Given the description of an element on the screen output the (x, y) to click on. 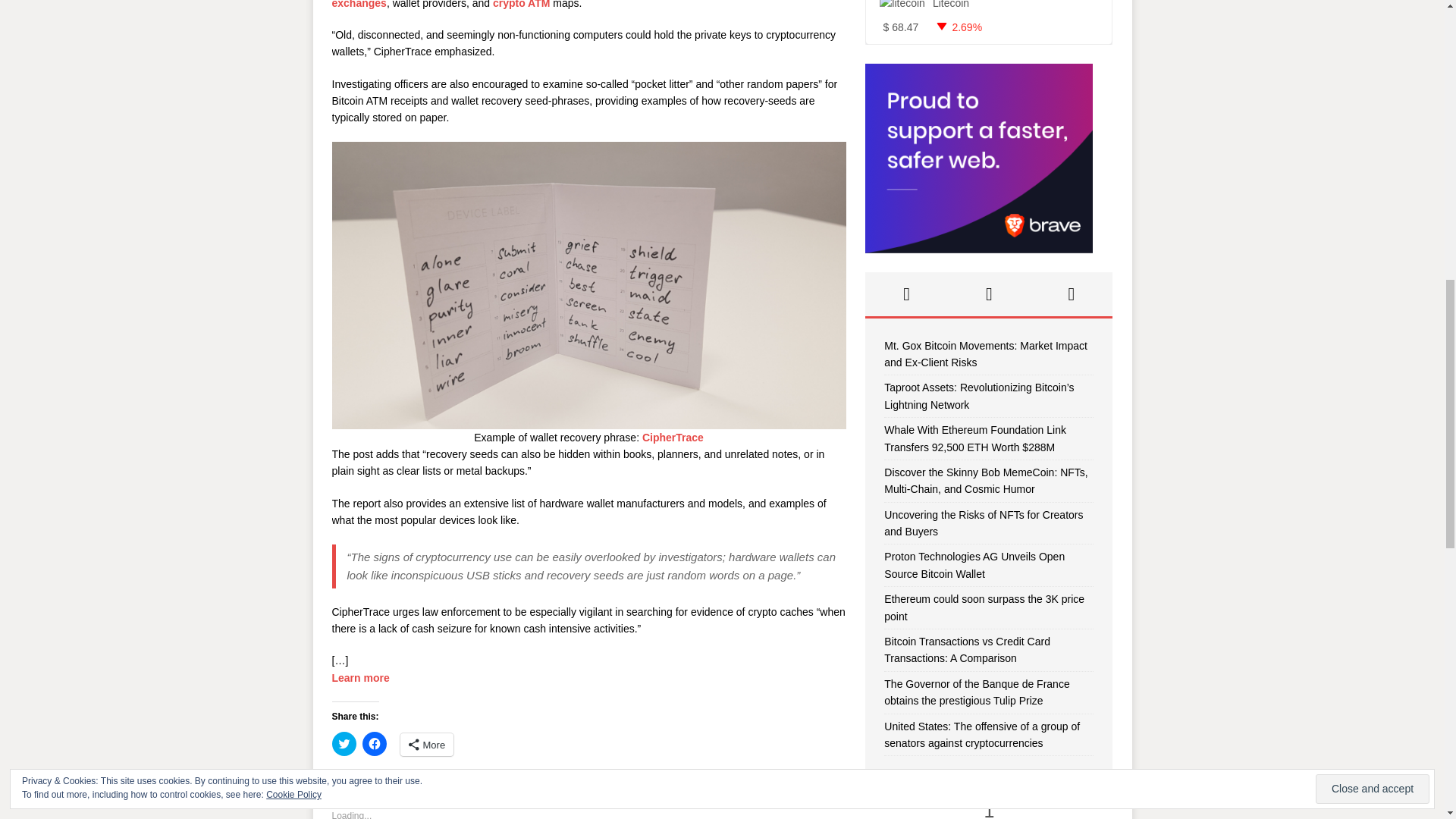
CipherTrace (672, 437)
crypto ATM (521, 4)
1 (989, 806)
Learn more (360, 677)
More (427, 744)
Click to share on Twitter (343, 743)
Click to share on Facebook (374, 743)
cryptocurrency exchanges (564, 4)
